Given the description of an element on the screen output the (x, y) to click on. 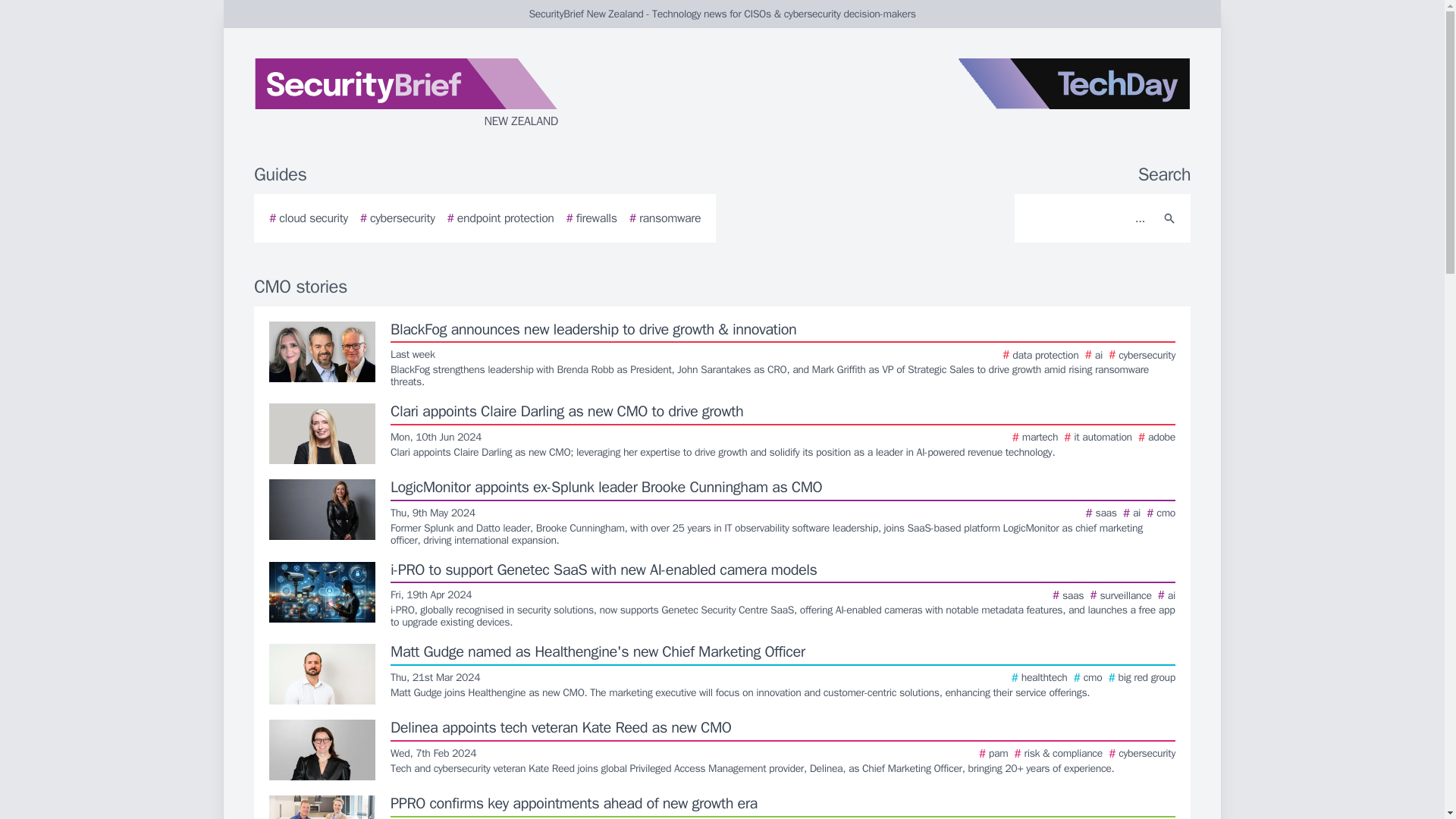
NEW ZEALAND (435, 94)
